Given the description of an element on the screen output the (x, y) to click on. 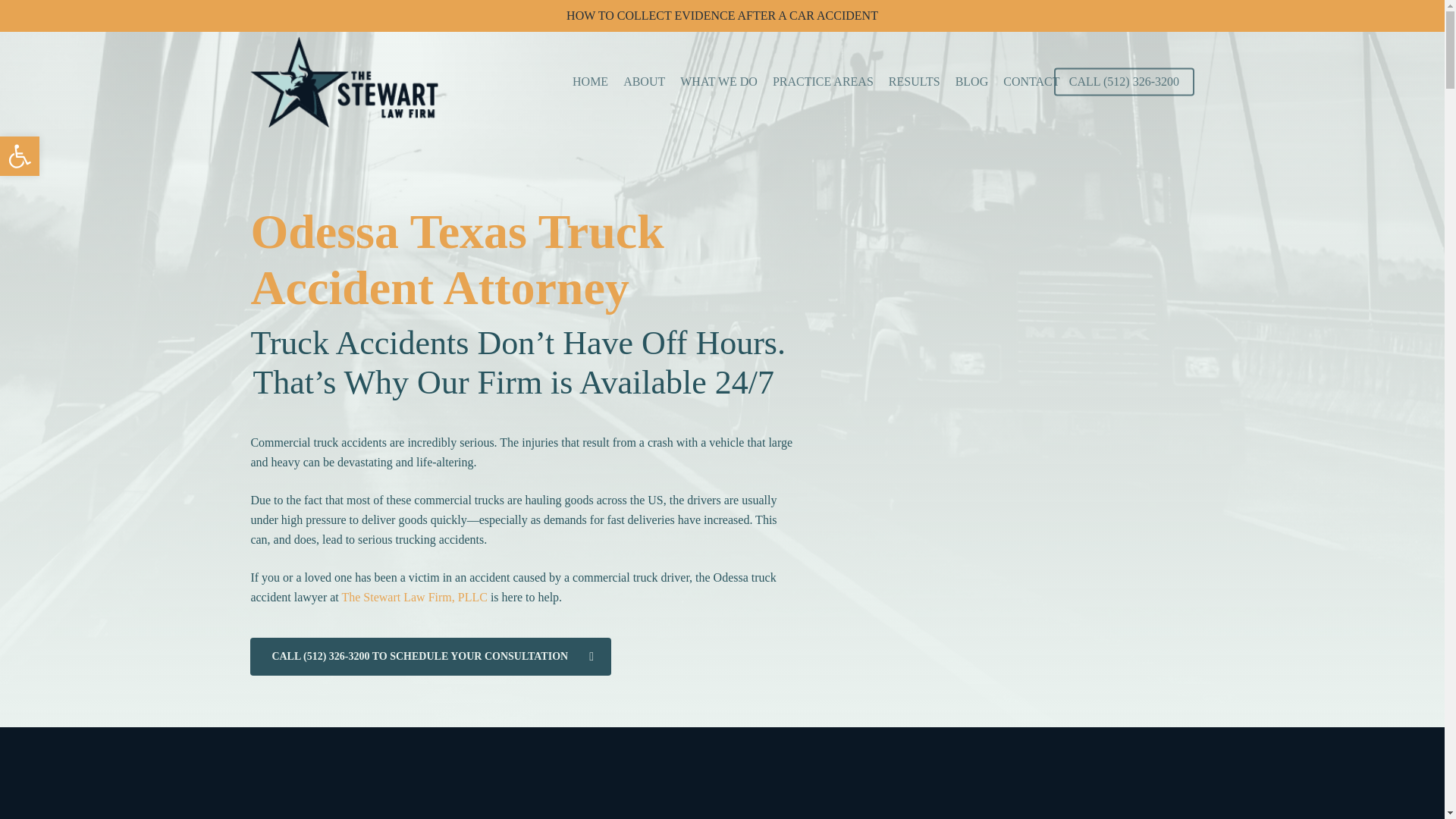
HOME (590, 81)
HOW TO COLLECT EVIDENCE AFTER A CAR ACCIDENT (721, 15)
The Stewart Law Firm, PLLC (413, 596)
Accessibility Tools (19, 156)
PRACTICE AREAS (823, 81)
RESULTS (914, 81)
BLOG (971, 81)
CONTACT (1031, 81)
WHAT WE DO (718, 81)
ABOUT (644, 81)
Accessibility Tools (19, 156)
